Given the description of an element on the screen output the (x, y) to click on. 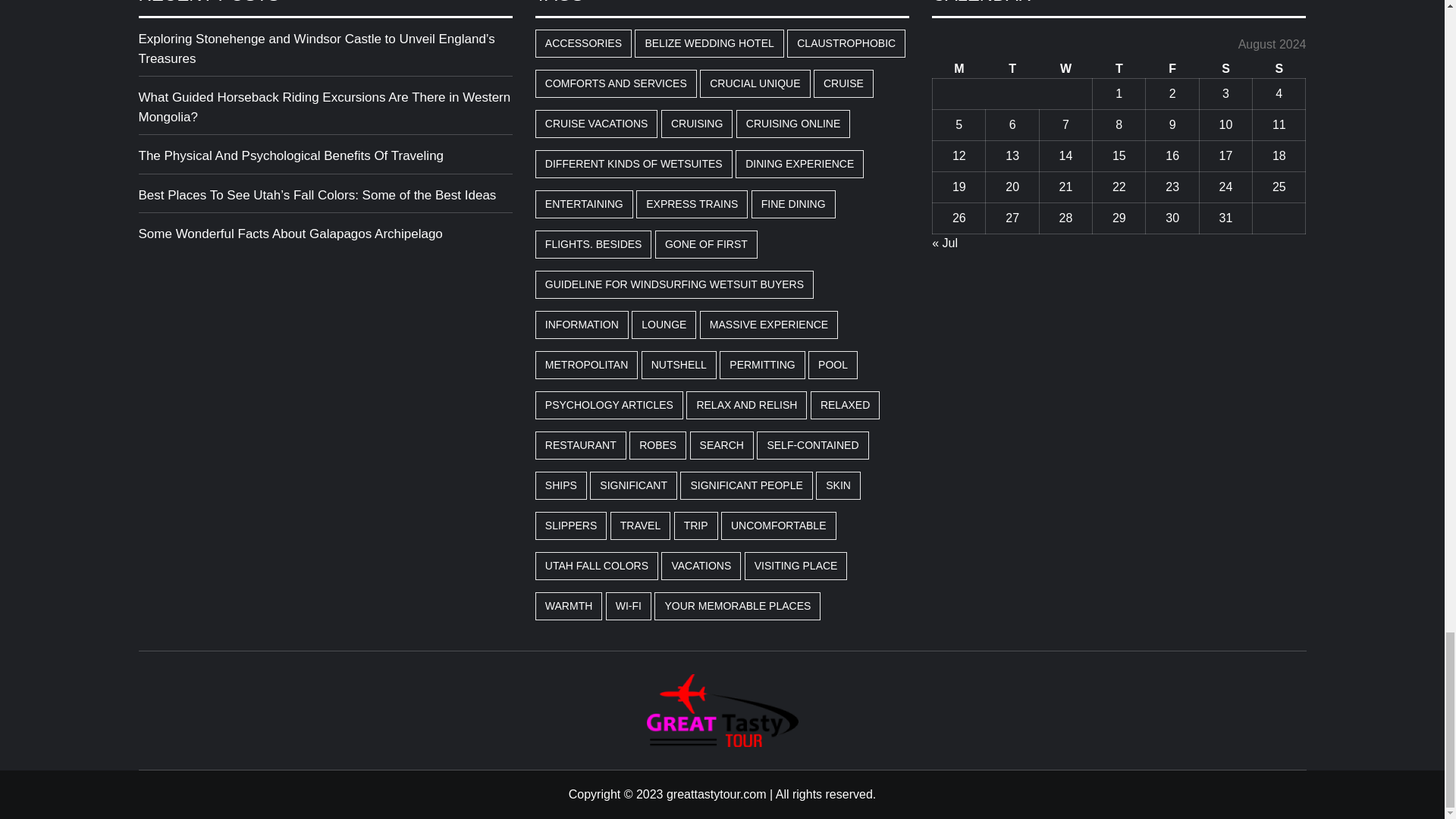
Tuesday (1012, 68)
Monday (959, 68)
Saturday (1225, 68)
Sunday (1279, 68)
Thursday (1119, 68)
Friday (1171, 68)
Wednesday (1065, 68)
